Given the description of an element on the screen output the (x, y) to click on. 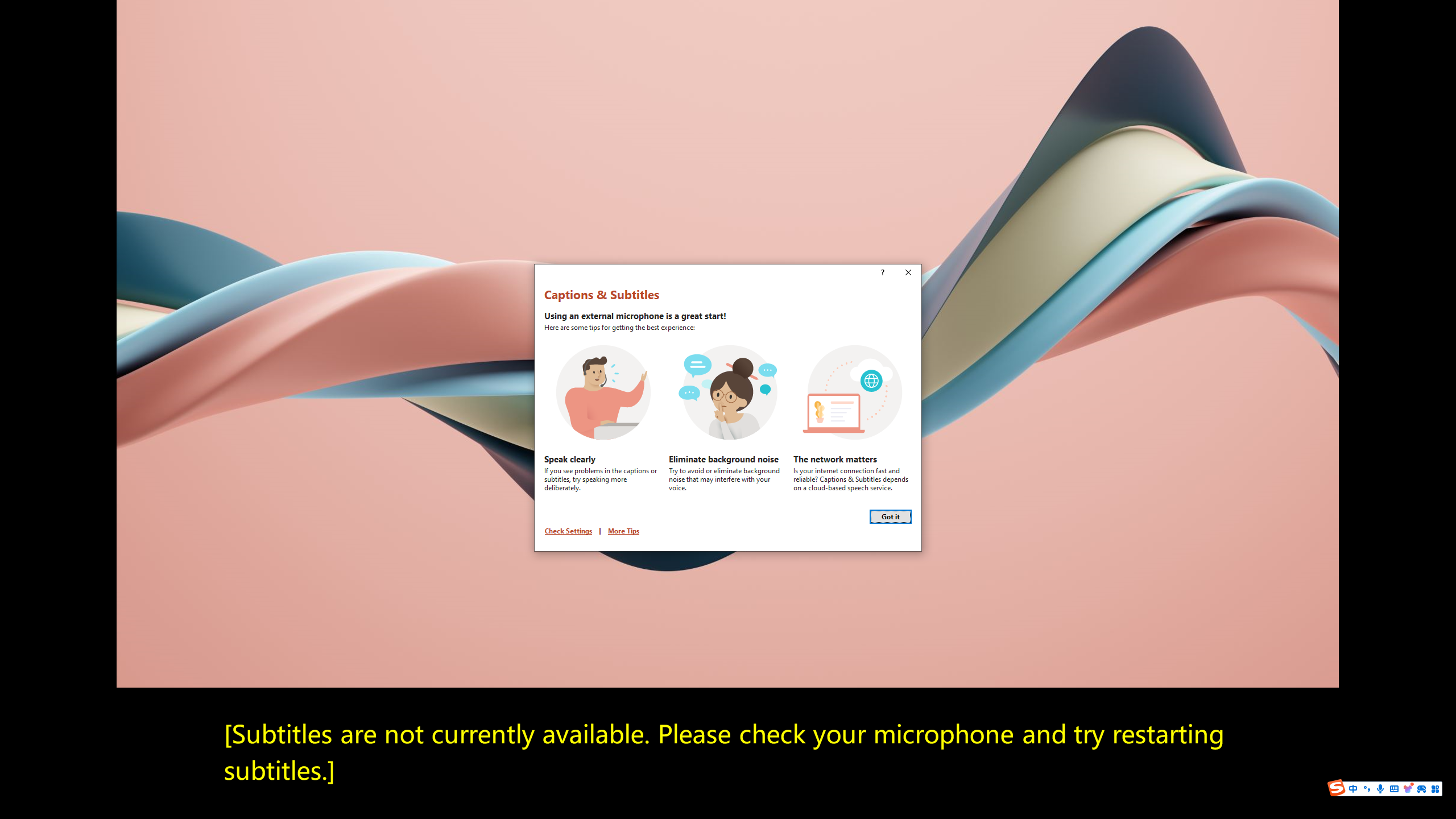
Check Settings (567, 530)
Person gesturing for people nearby to be quiet (727, 392)
Got it (890, 516)
More Tips (623, 530)
Laptop transferring data to and from the internet (852, 392)
Context help (881, 272)
